Given the description of an element on the screen output the (x, y) to click on. 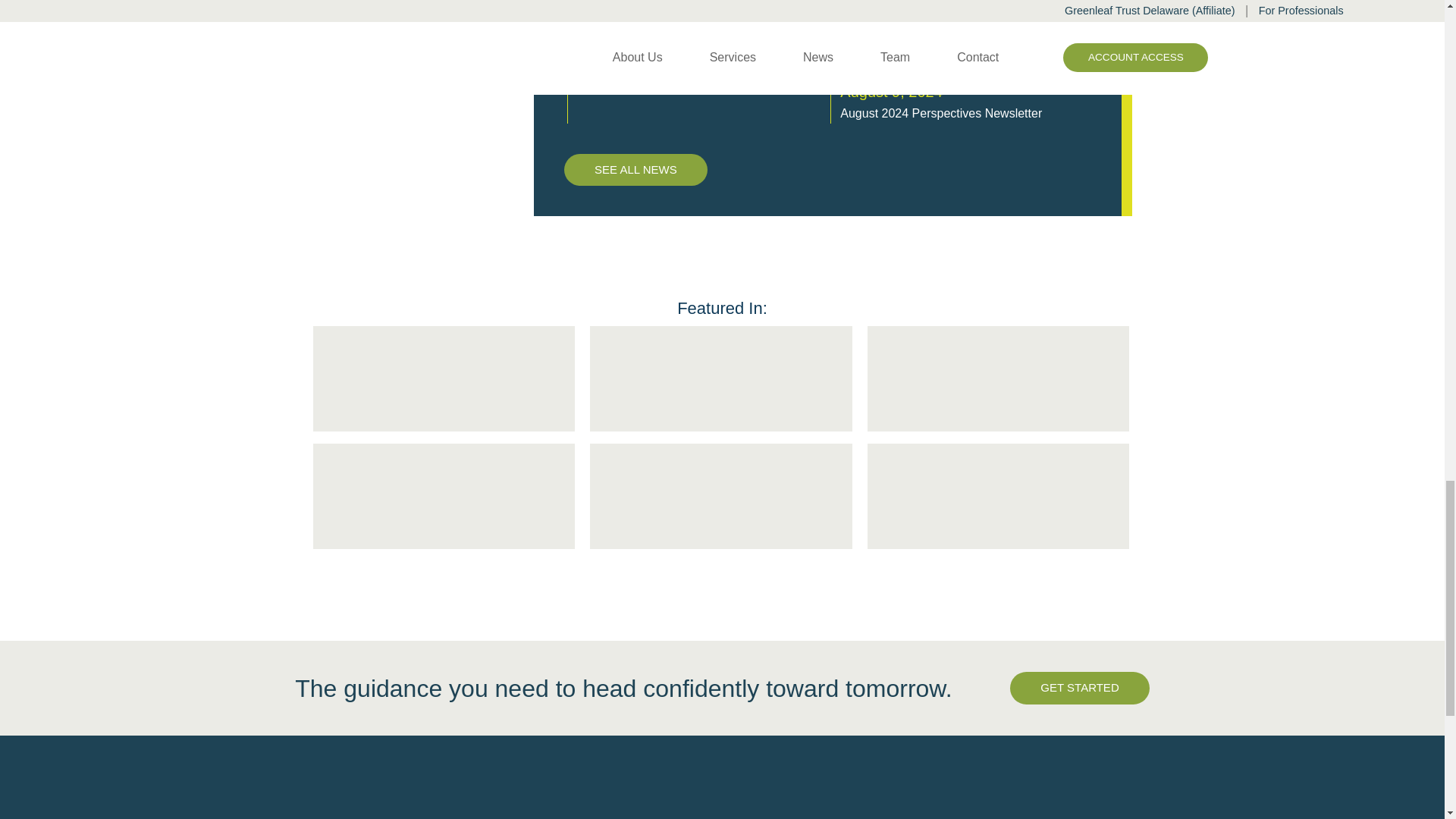
Visit Barron's Website (720, 378)
Visit Yahoo Finance Website (720, 496)
Visit MSN Website (998, 378)
Visit Bloomberg Website (998, 496)
Visit USA Today Website (443, 378)
